Given the description of an element on the screen output the (x, y) to click on. 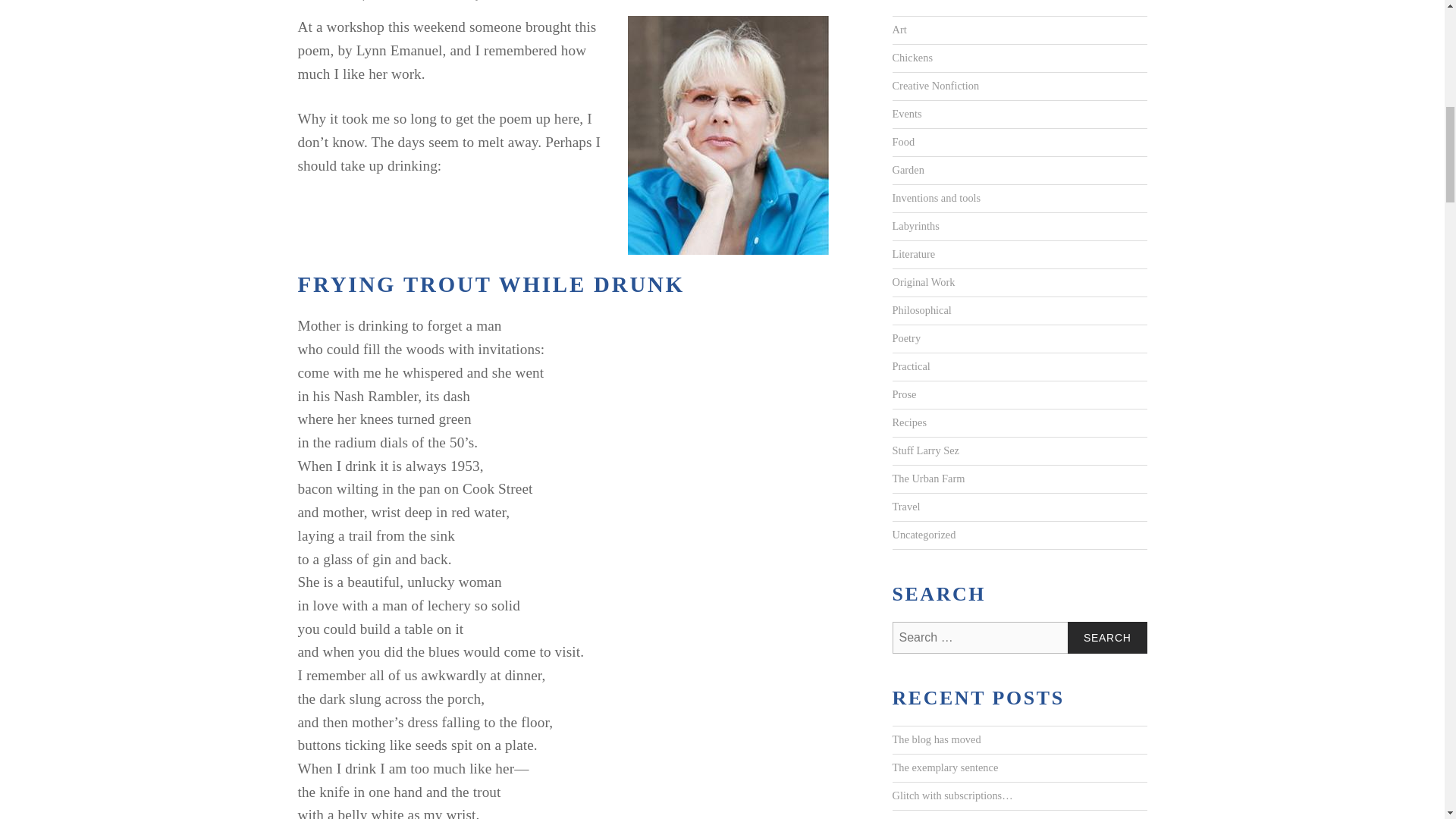
Food (902, 142)
Recipes (908, 422)
Philosophical (920, 310)
Labyrinths (915, 226)
Art (898, 29)
Prose (903, 395)
Stuff Larry Sez (924, 450)
Creative Nonfiction (934, 86)
Poetry (905, 338)
Chickens (912, 58)
Garden (907, 170)
Inventions and tools (935, 198)
Search (1107, 637)
Original Work (923, 282)
Search (1107, 637)
